Given the description of an element on the screen output the (x, y) to click on. 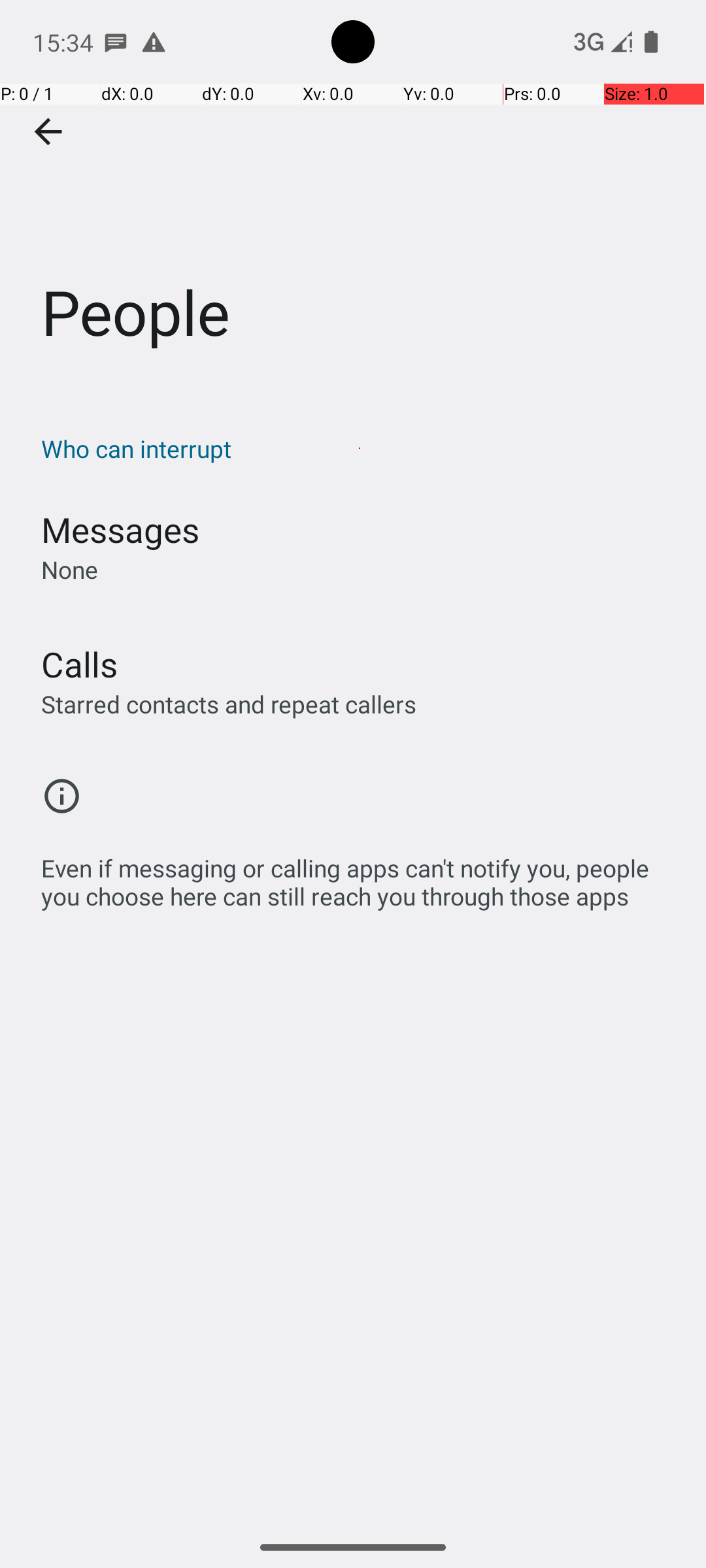
People Element type: android.widget.FrameLayout (353, 195)
Who can interrupt Element type: android.widget.TextView (359, 448)
Calls Element type: android.widget.TextView (79, 663)
Starred contacts and repeat callers Element type: android.widget.TextView (229, 703)
Even if messaging or calling apps can't notify you, people you choose here can still reach you through those apps Element type: android.widget.TextView (359, 874)
